Given the description of an element on the screen output the (x, y) to click on. 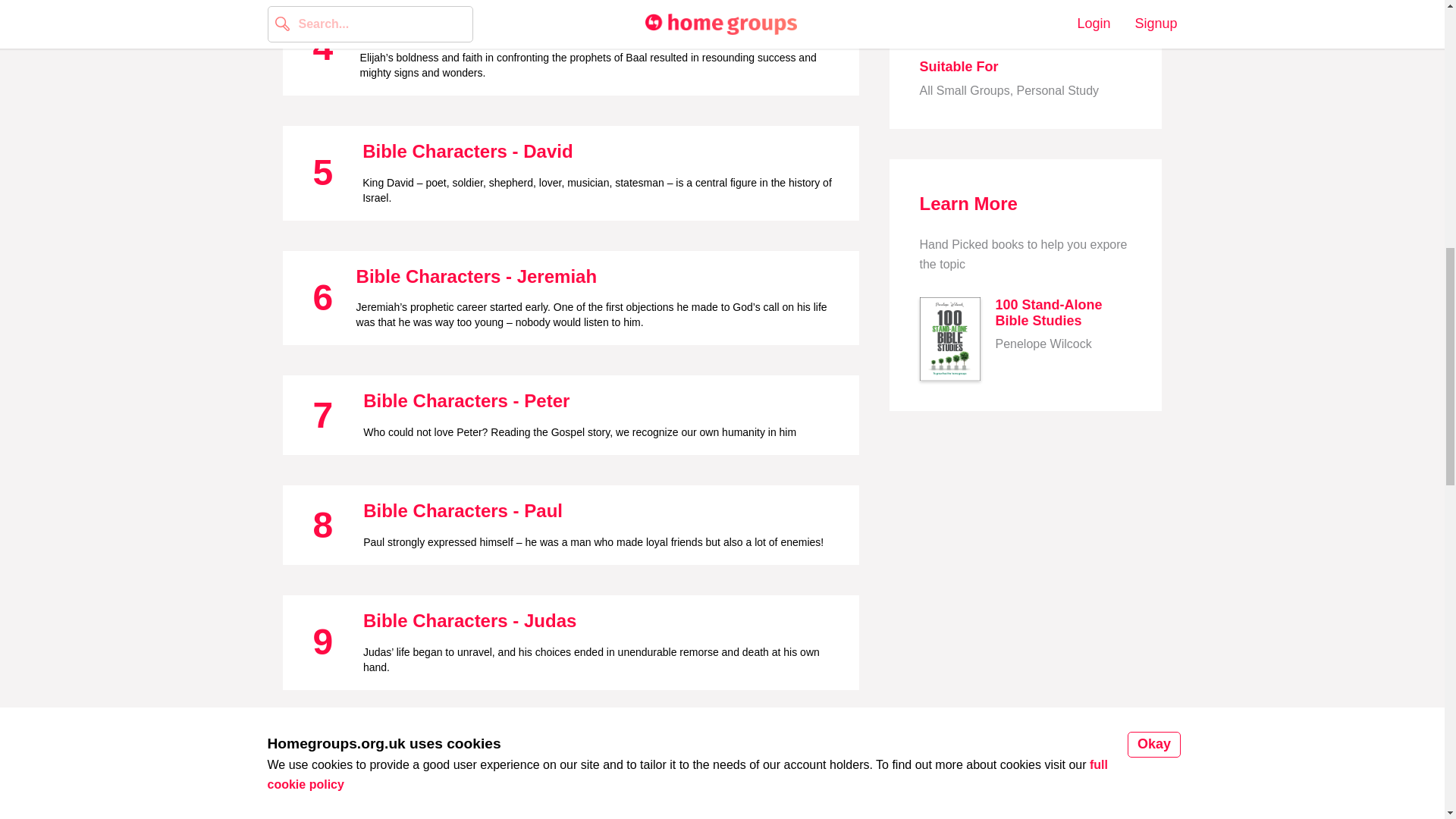
Bible Characters - David (467, 150)
Bible Characters - Paul (462, 510)
Bible Characters - Peter (465, 400)
Bible Characters - Elijah (464, 25)
Bible Characters - Jeremiah (476, 276)
Bible Characters - Barnabas (492, 745)
Bible Characters - Judas (469, 620)
